Given the description of an element on the screen output the (x, y) to click on. 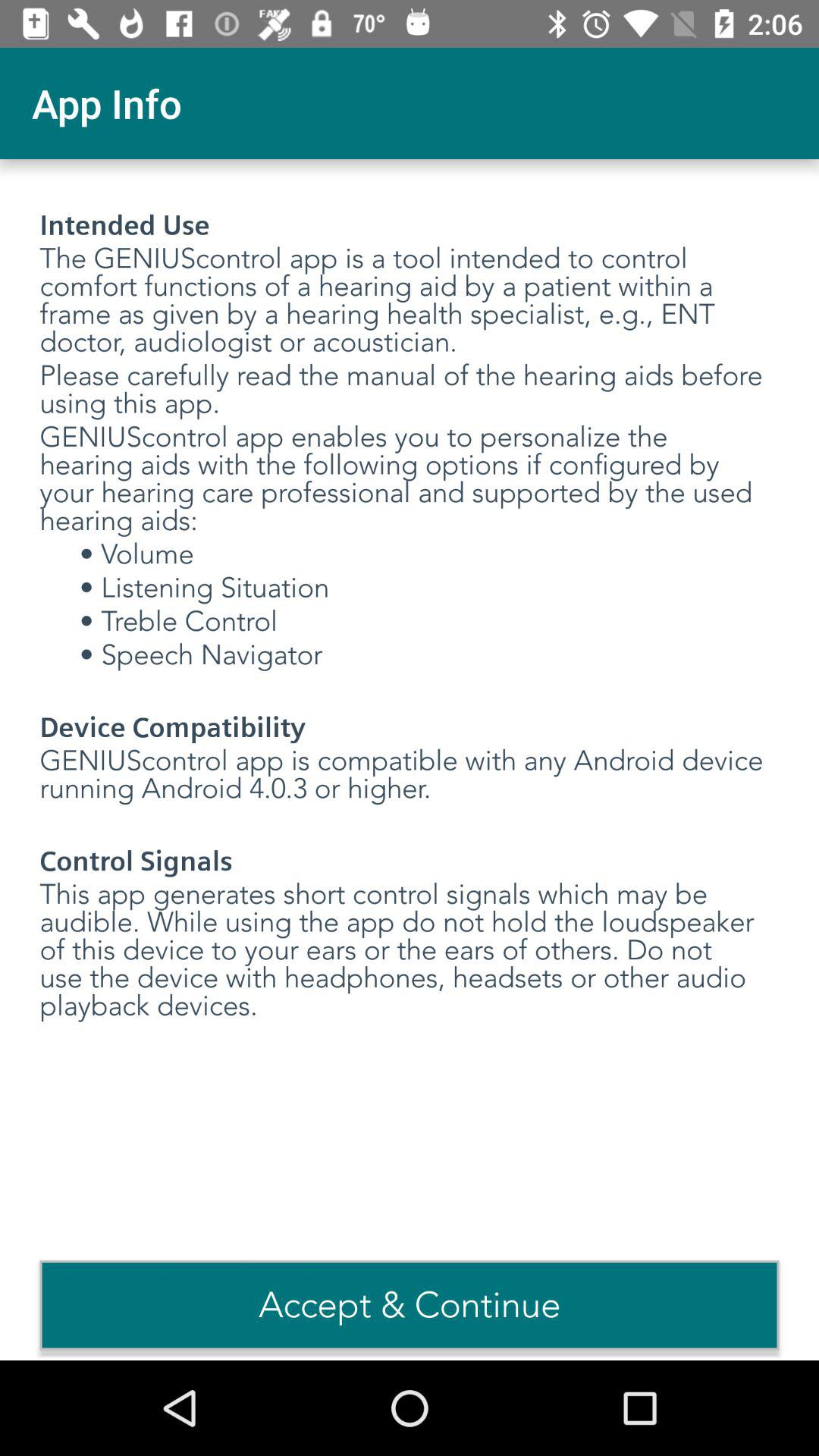
jump until accept & continue (409, 1305)
